Given the description of an element on the screen output the (x, y) to click on. 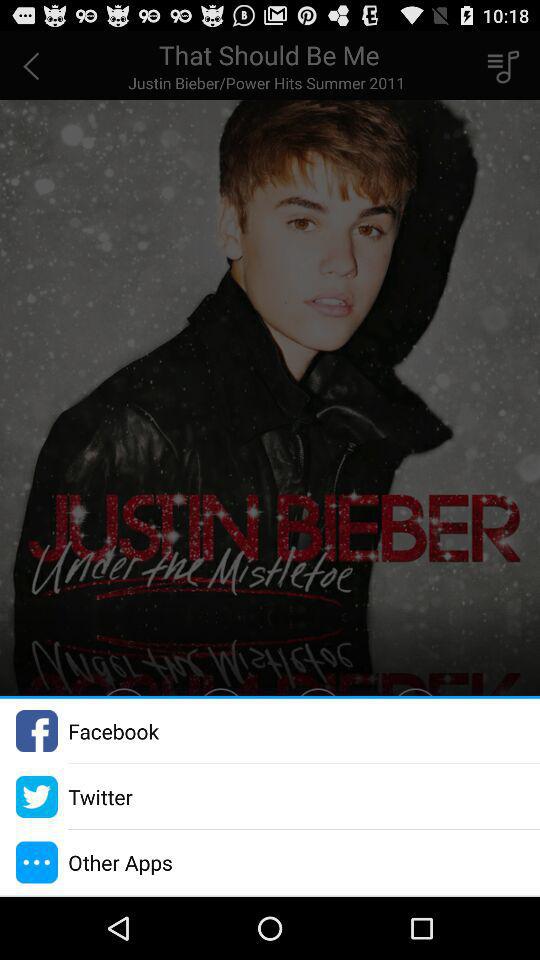
jump until the facebook icon (113, 730)
